Given the description of an element on the screen output the (x, y) to click on. 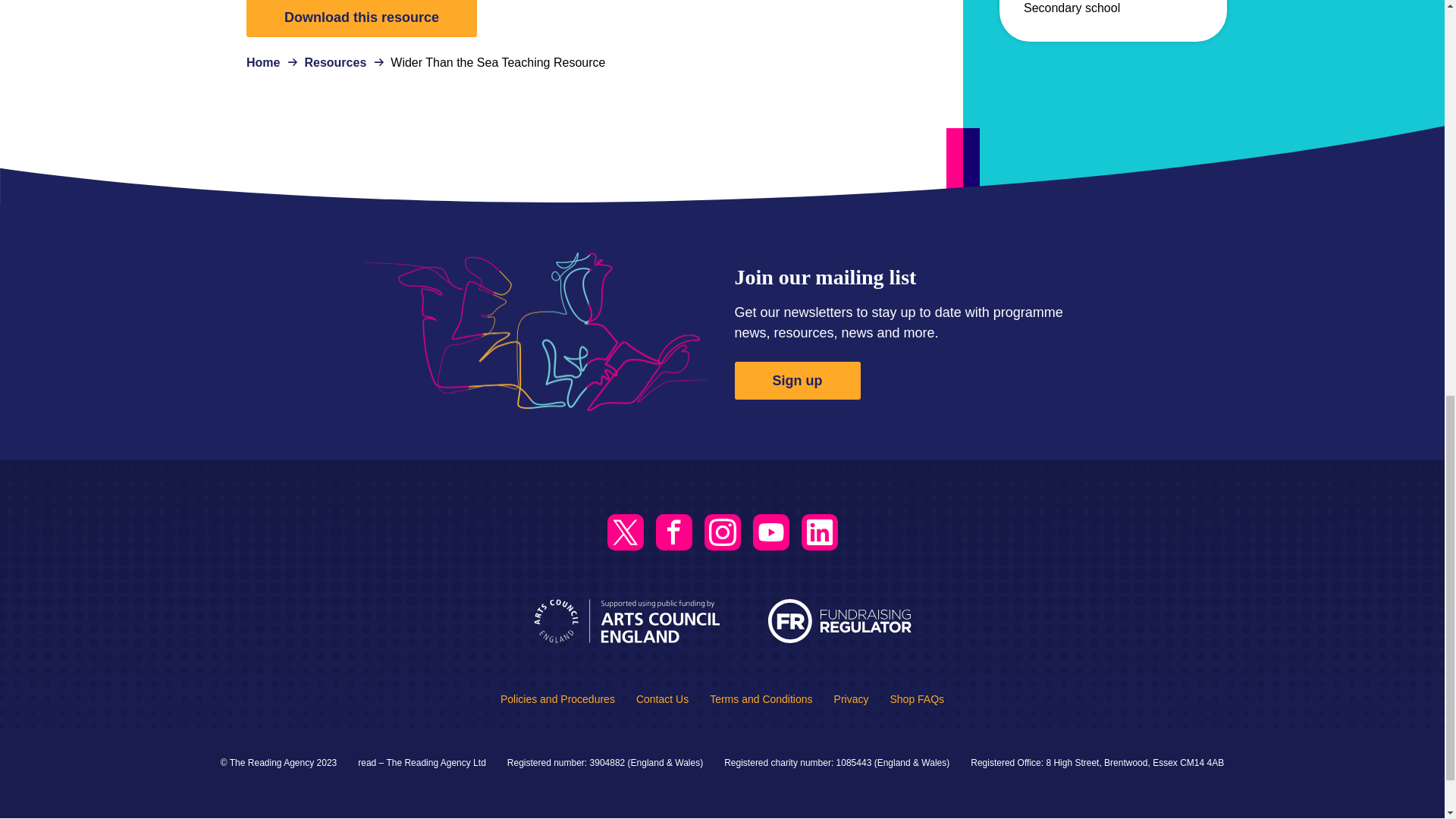
Twitter (625, 532)
Secondary school (1071, 7)
Home (262, 62)
YouTube (770, 532)
Instagram (721, 532)
Terms and Conditions (761, 698)
Resources (335, 62)
Policies and Procedures (557, 698)
Download this resource (361, 18)
Shop FAQs (916, 698)
